Given the description of an element on the screen output the (x, y) to click on. 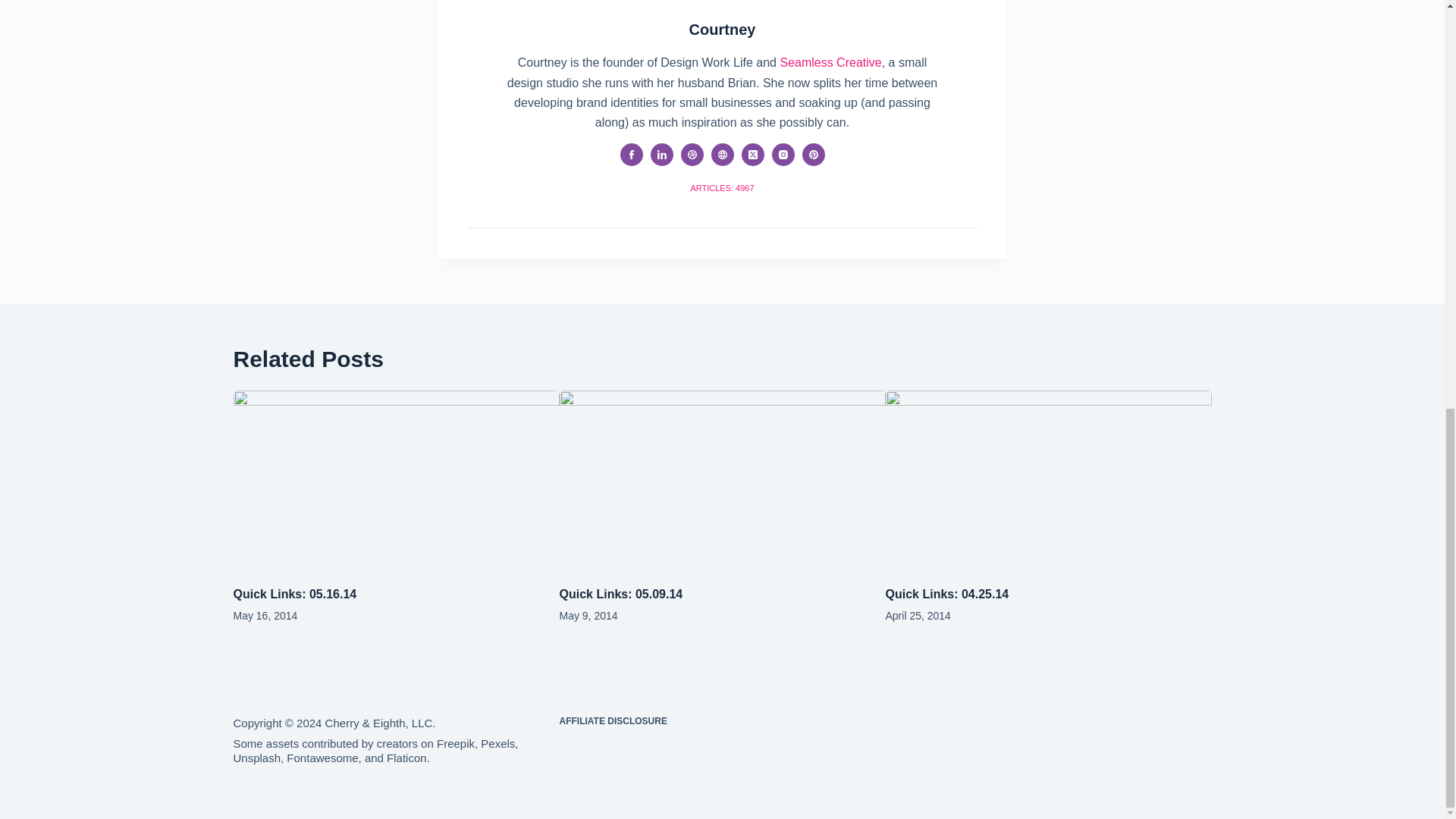
Seamless Creative (829, 62)
